Given the description of an element on the screen output the (x, y) to click on. 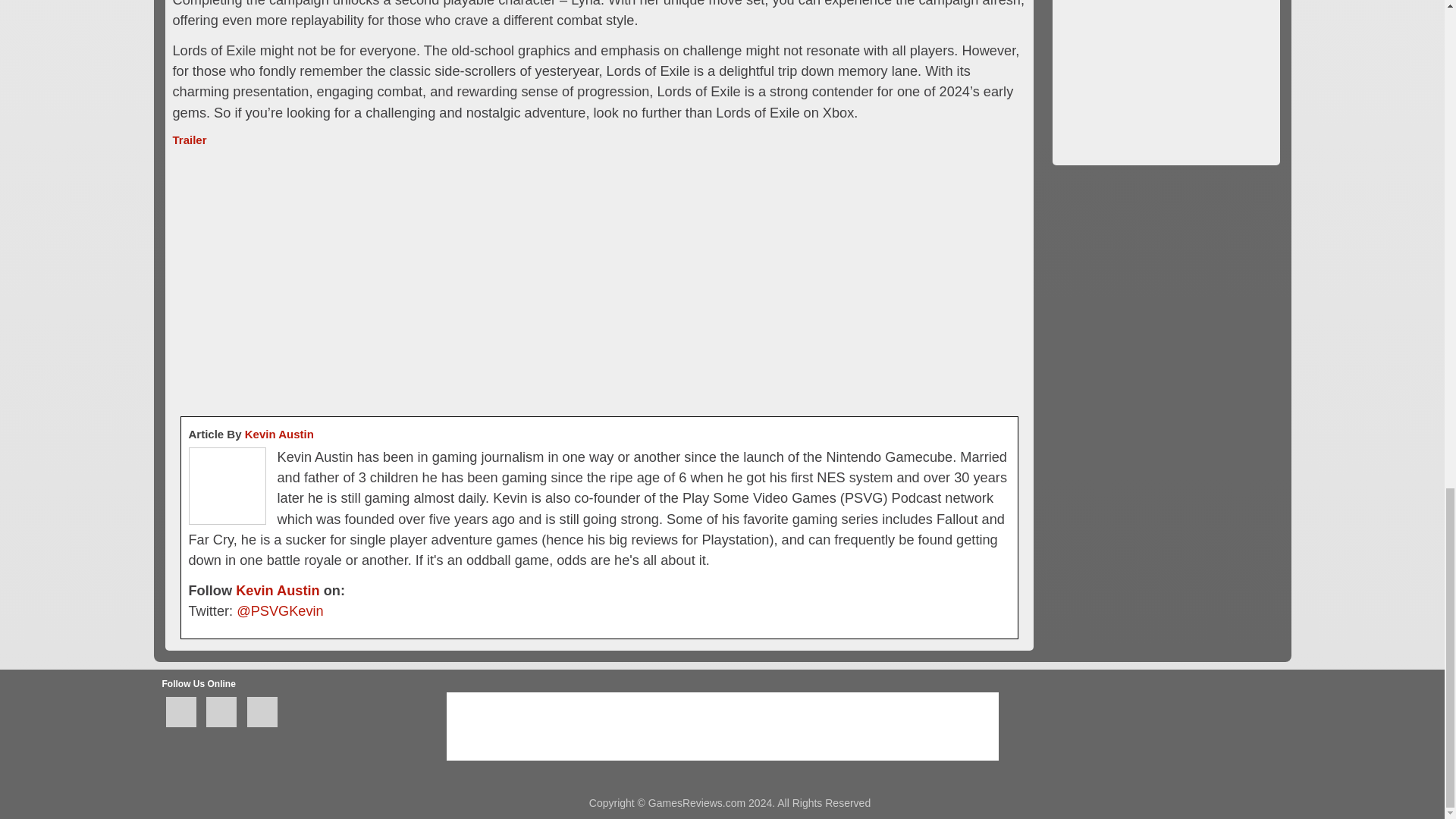
Posts by Kevin Austin (276, 590)
Follow Us On Twitter (220, 711)
Posts by Kevin Austin (279, 433)
Follow Us On Facebook (180, 711)
